Given the description of an element on the screen output the (x, y) to click on. 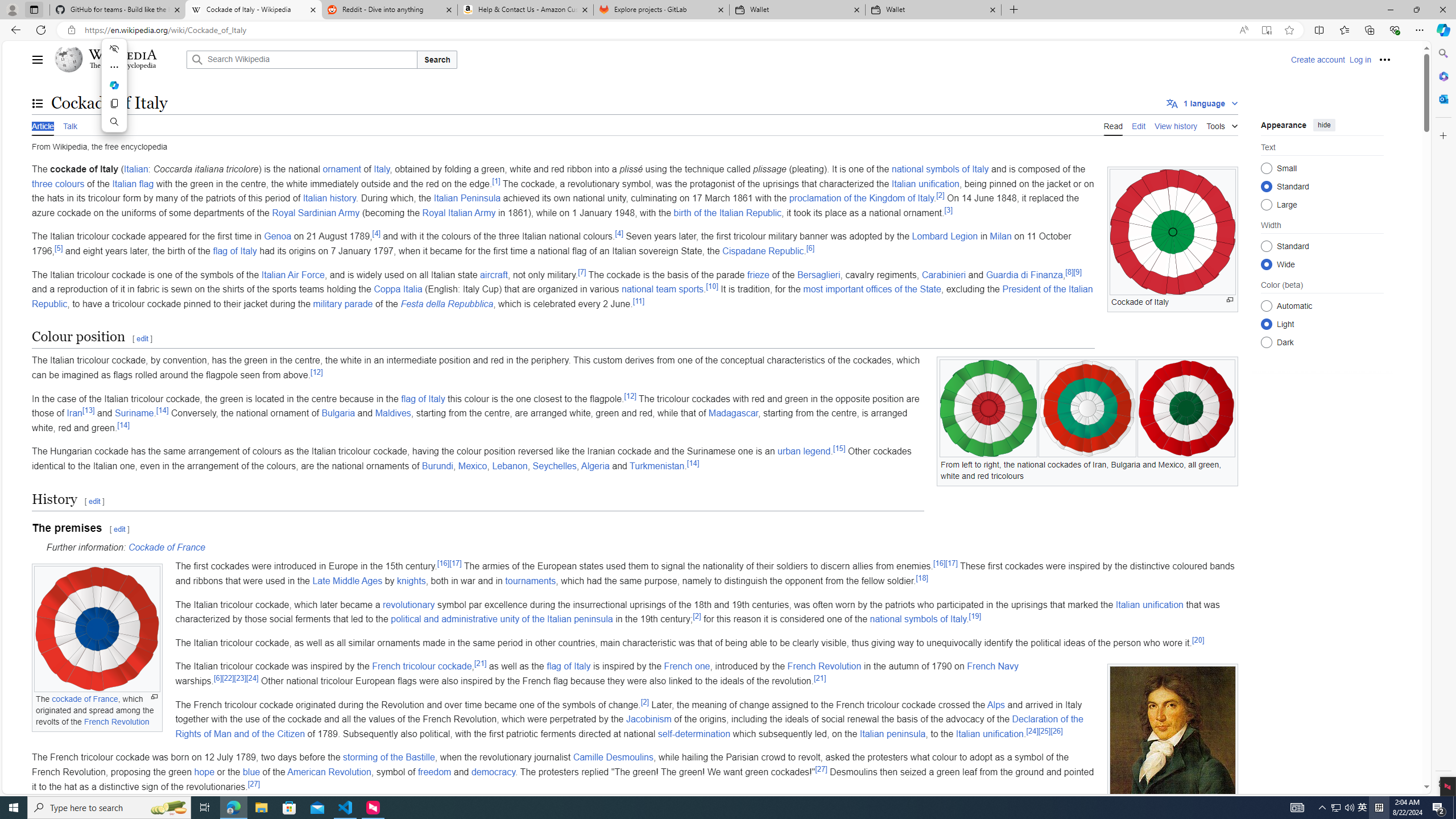
Declaration of the Rights of Man and of the Citizen (628, 726)
Tools (1222, 124)
[6] (217, 677)
Copy (113, 103)
French Revolution (824, 666)
[16] (939, 563)
Bersaglieri (818, 274)
Personal tools (1384, 59)
Talk (69, 124)
Bulgaria (338, 413)
Light (1266, 323)
Edit (1138, 124)
